Given the description of an element on the screen output the (x, y) to click on. 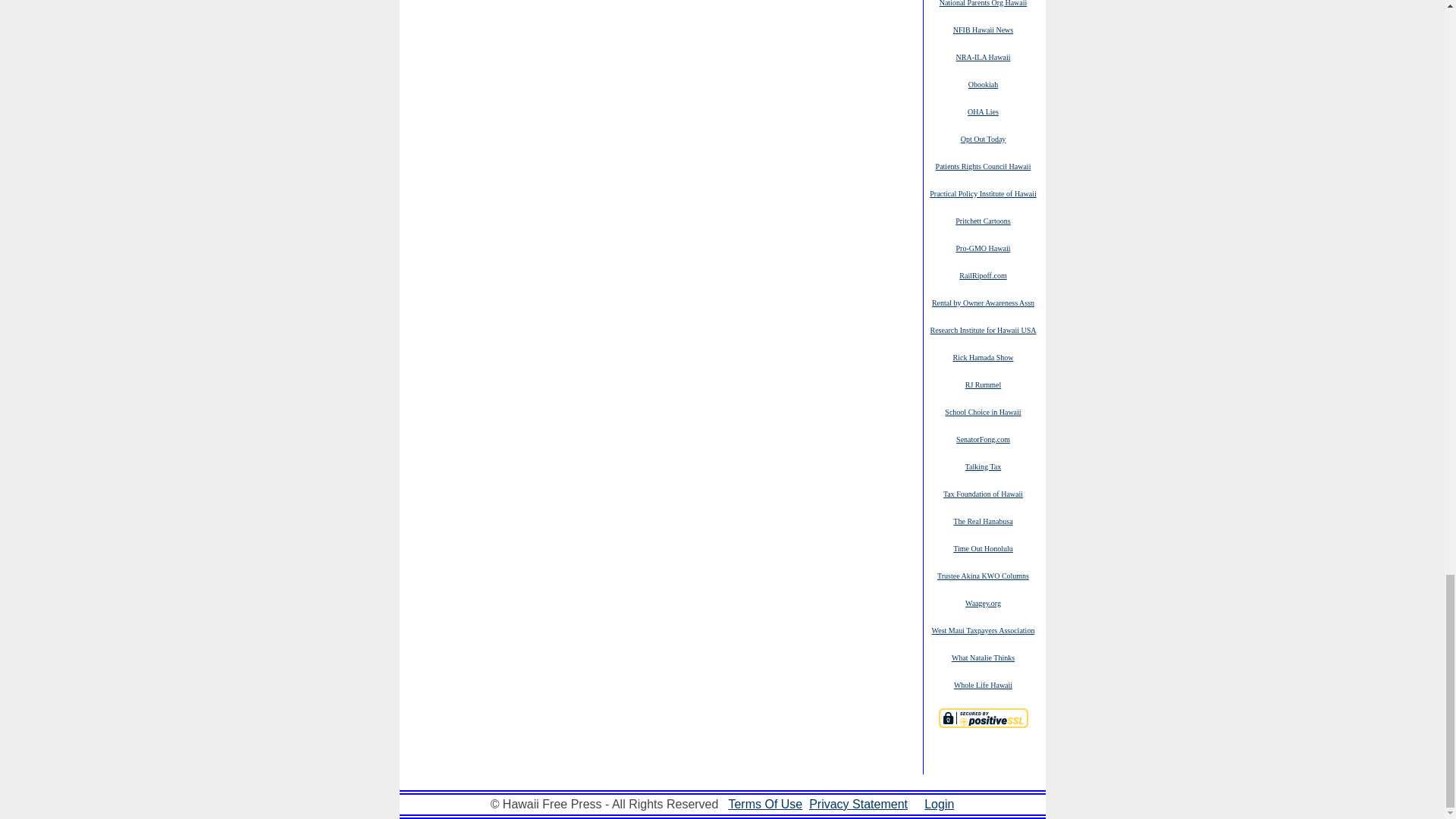
Login (938, 803)
